Given the description of an element on the screen output the (x, y) to click on. 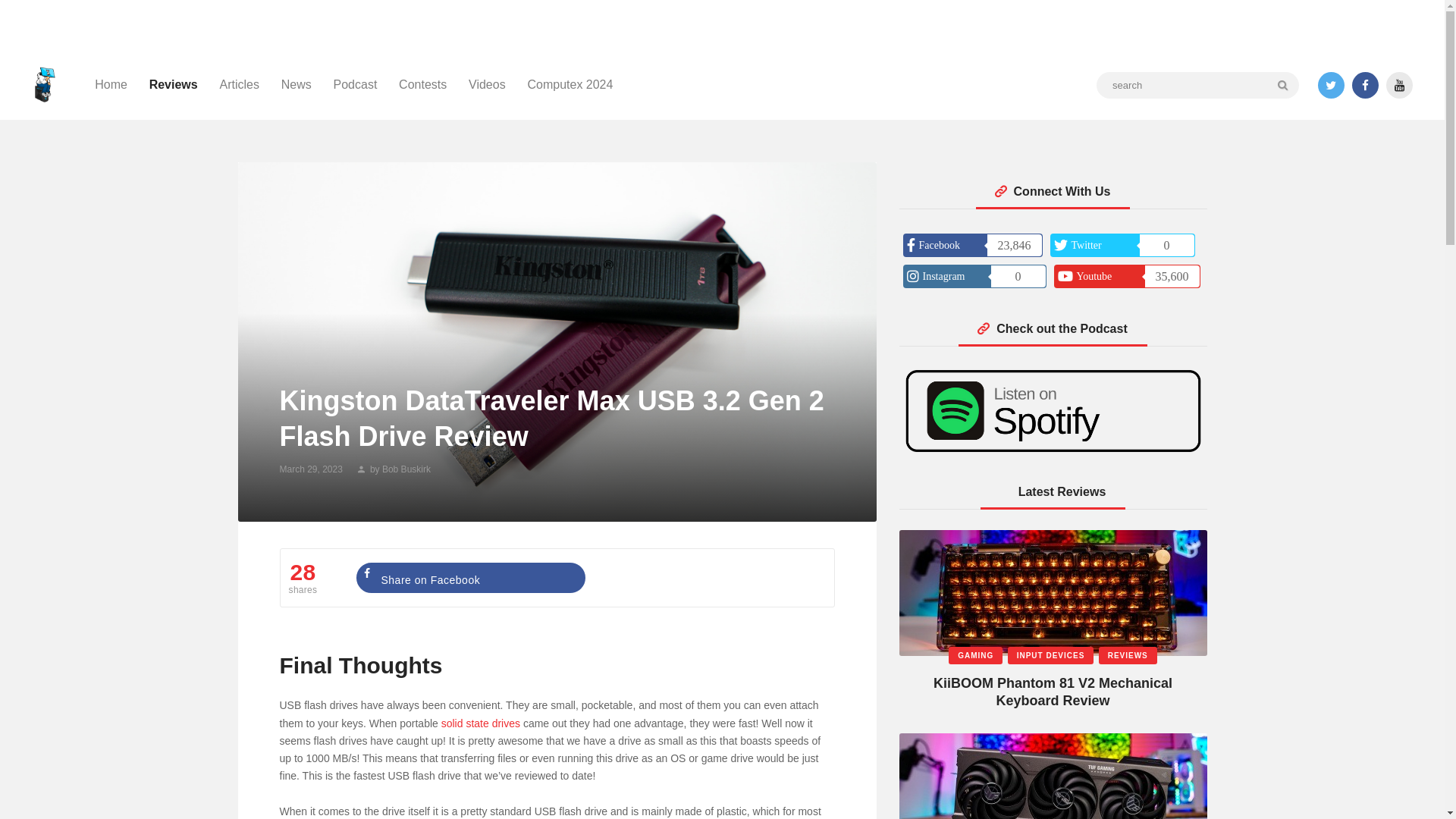
Articles (238, 85)
Share on Facebook (470, 577)
News (295, 85)
Share on X (703, 577)
Reviews (173, 85)
Home (111, 85)
